Given the description of an element on the screen output the (x, y) to click on. 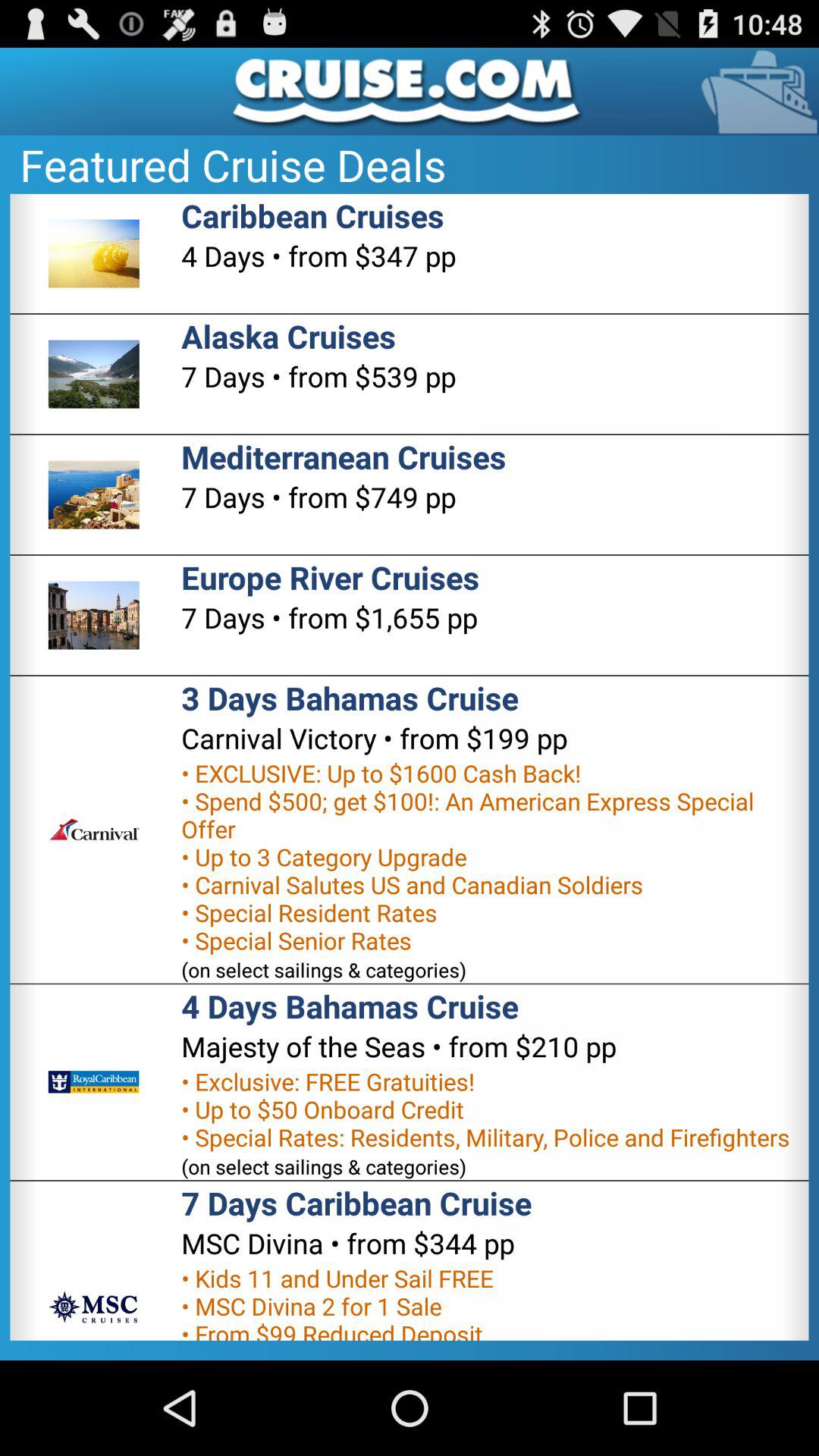
turn on item below 3 days bahamas app (374, 738)
